Given the description of an element on the screen output the (x, y) to click on. 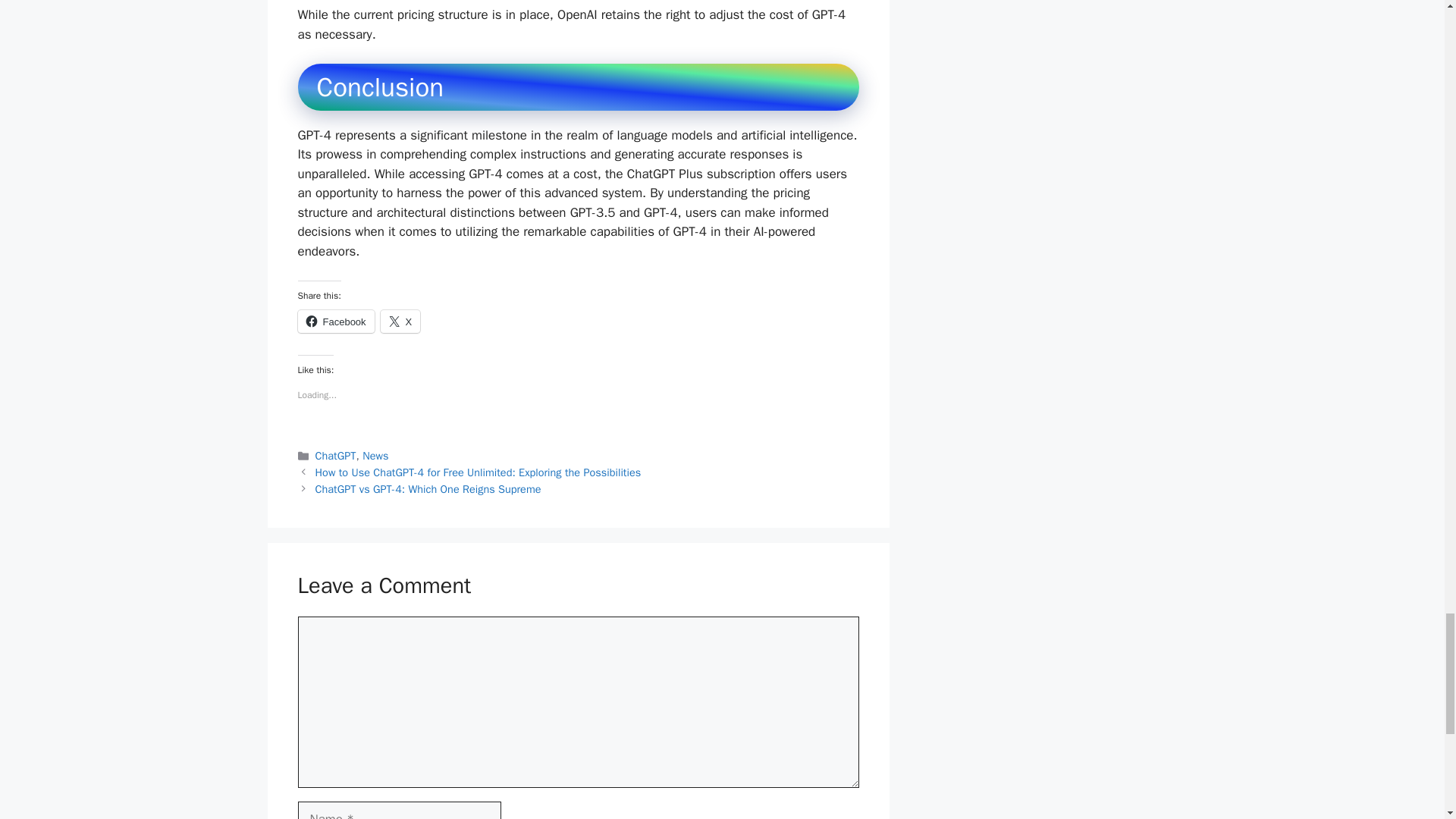
ChatGPT vs GPT-4: Which One Reigns Supreme (428, 489)
Facebook (335, 321)
News (375, 455)
ChatGPT (335, 455)
Click to share on X (400, 321)
X (400, 321)
Click to share on Facebook (335, 321)
